Given the description of an element on the screen output the (x, y) to click on. 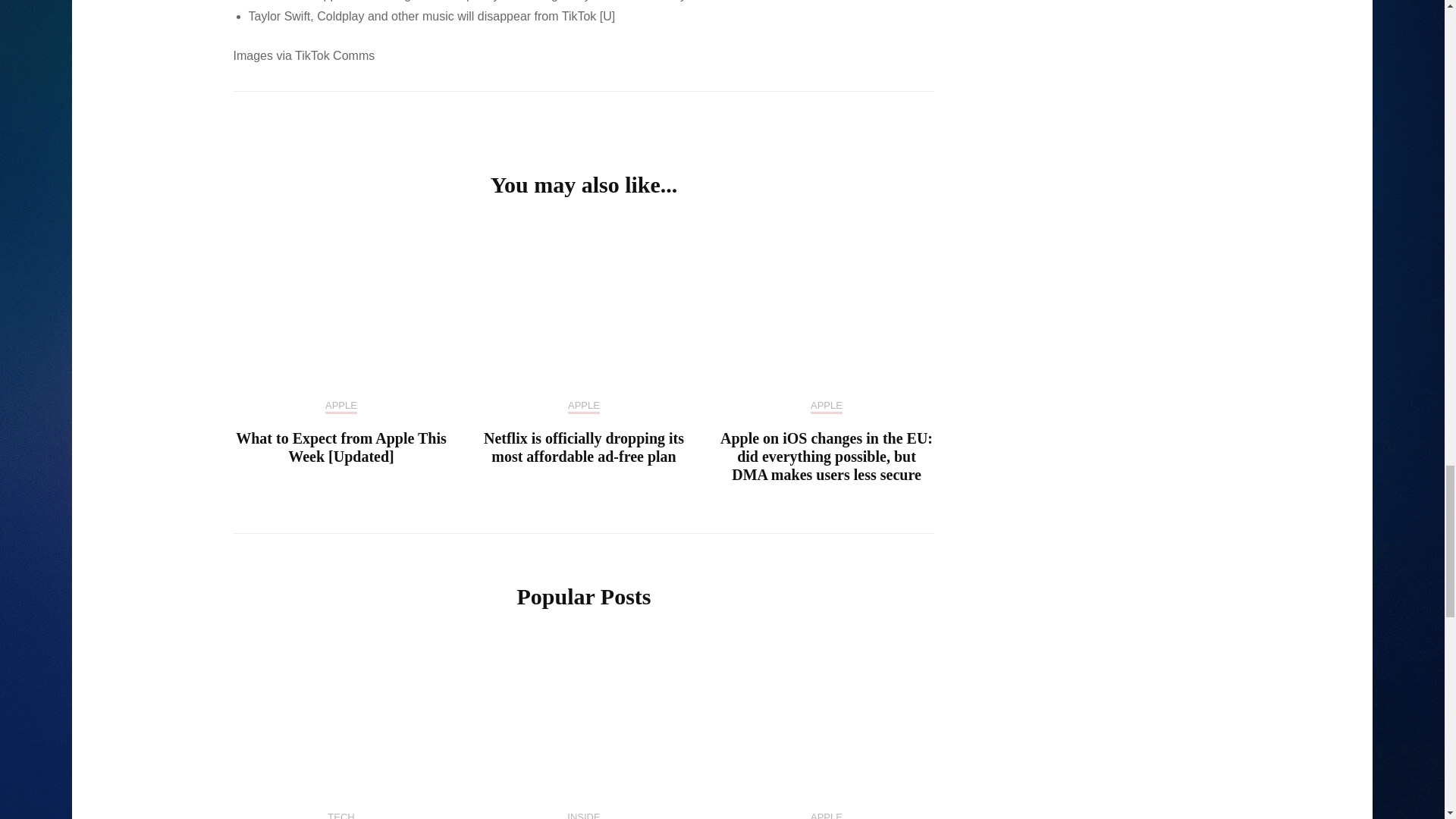
TECH (340, 815)
APPLE (340, 406)
APPLE (826, 406)
APPLE (583, 406)
